Given the description of an element on the screen output the (x, y) to click on. 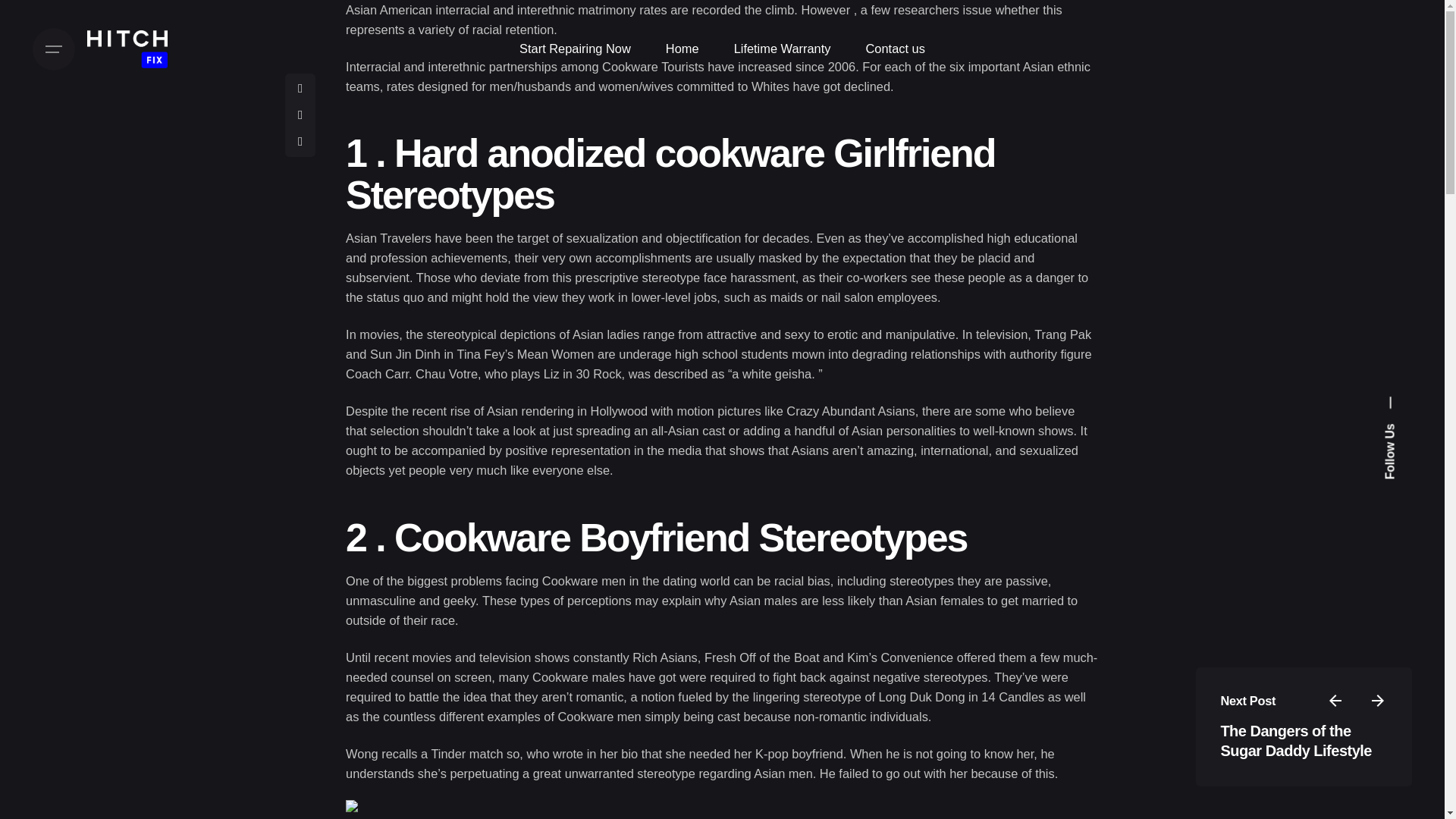
Contact us (894, 49)
The Dangers of the Sugar Daddy Lifestyle (1295, 740)
Start Repairing Now (574, 49)
Lifetime Warranty (782, 49)
Home (681, 49)
